Given the description of an element on the screen output the (x, y) to click on. 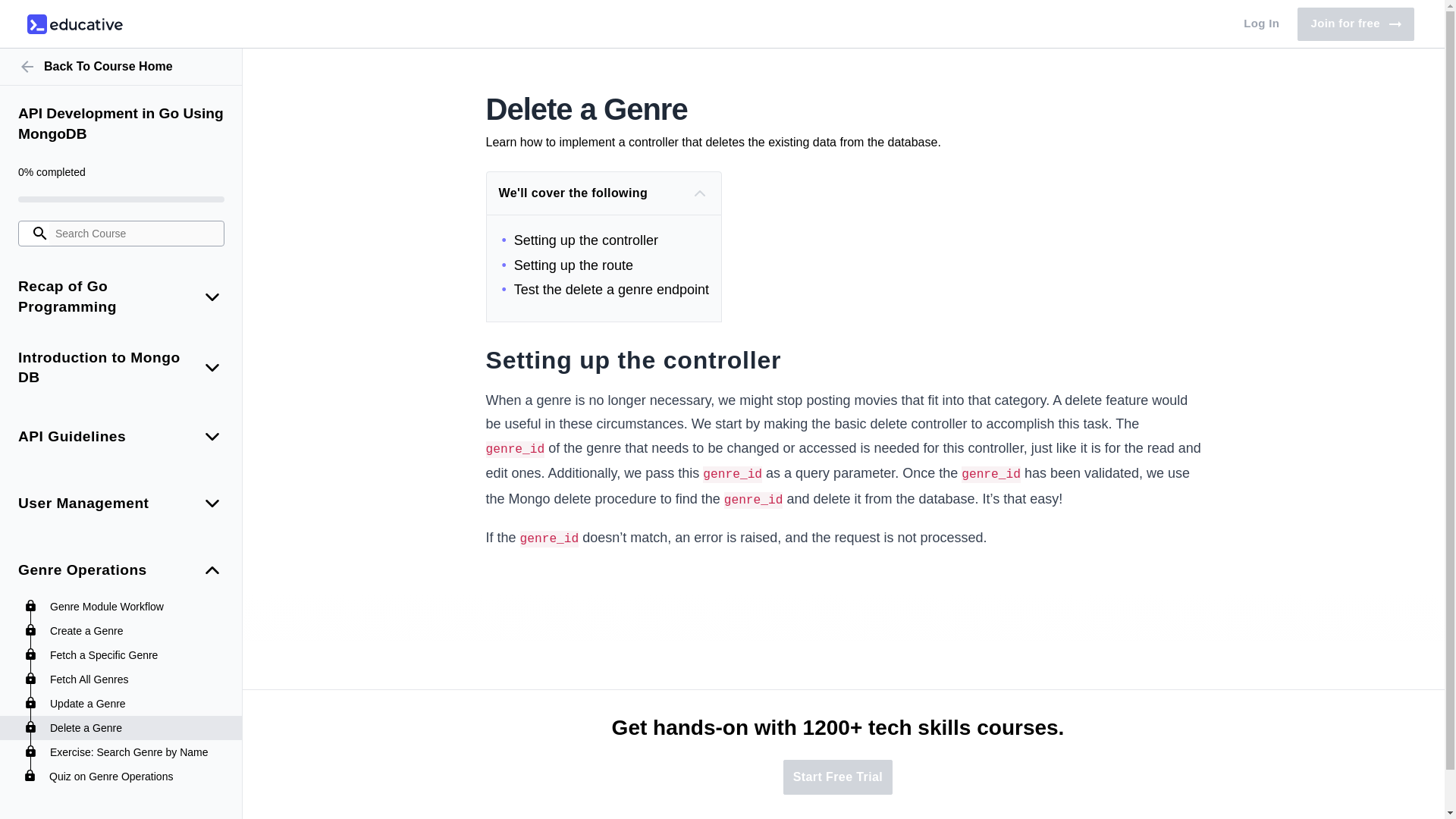
educative.io (74, 23)
Back To Course Home (121, 66)
Log In (1355, 23)
API Development in Go Using MongoDB (1261, 23)
